Given the description of an element on the screen output the (x, y) to click on. 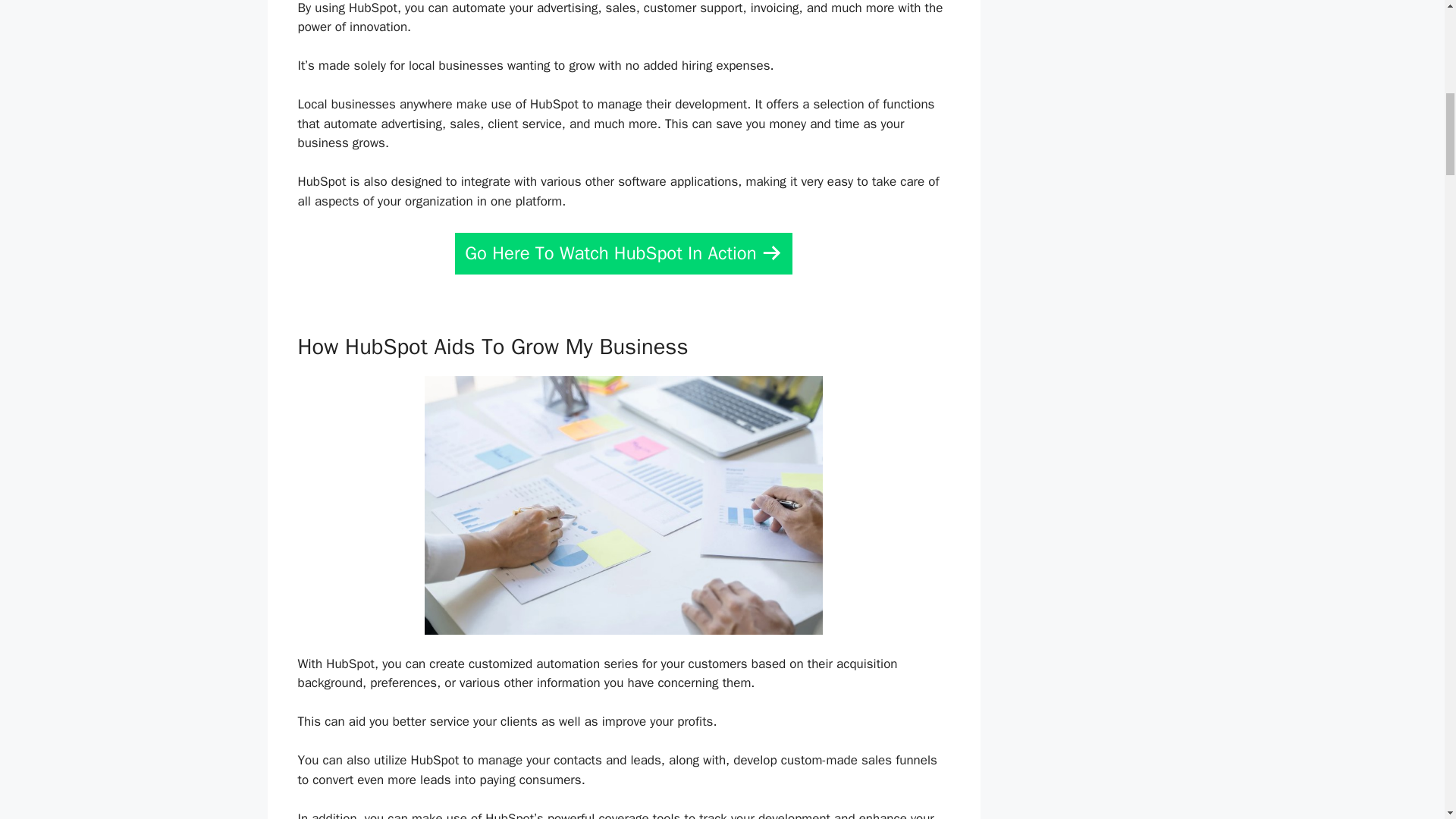
Go Here To Watch HubSpot In Action (623, 253)
